Given the description of an element on the screen output the (x, y) to click on. 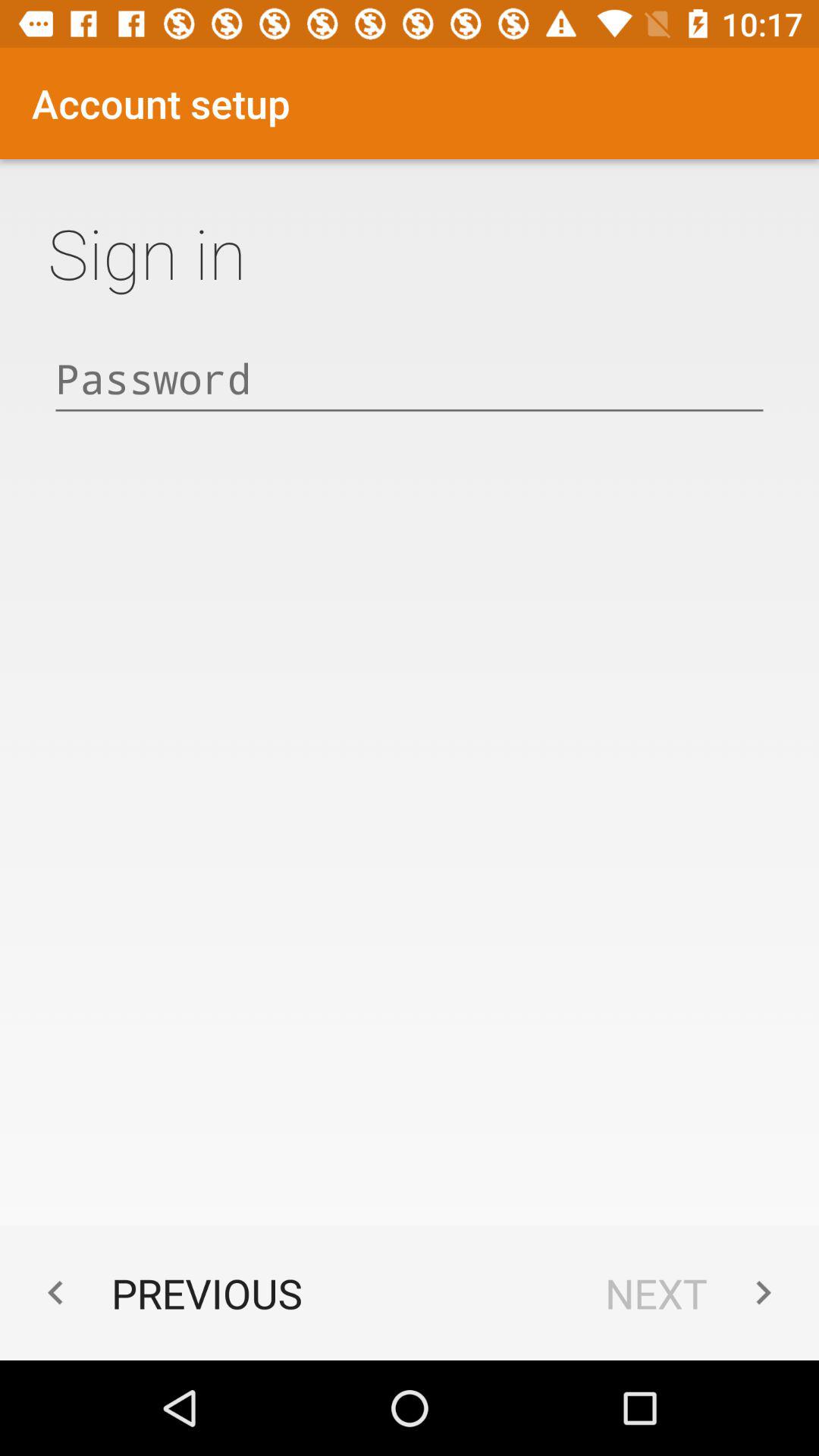
flip to the next (696, 1292)
